Given the description of an element on the screen output the (x, y) to click on. 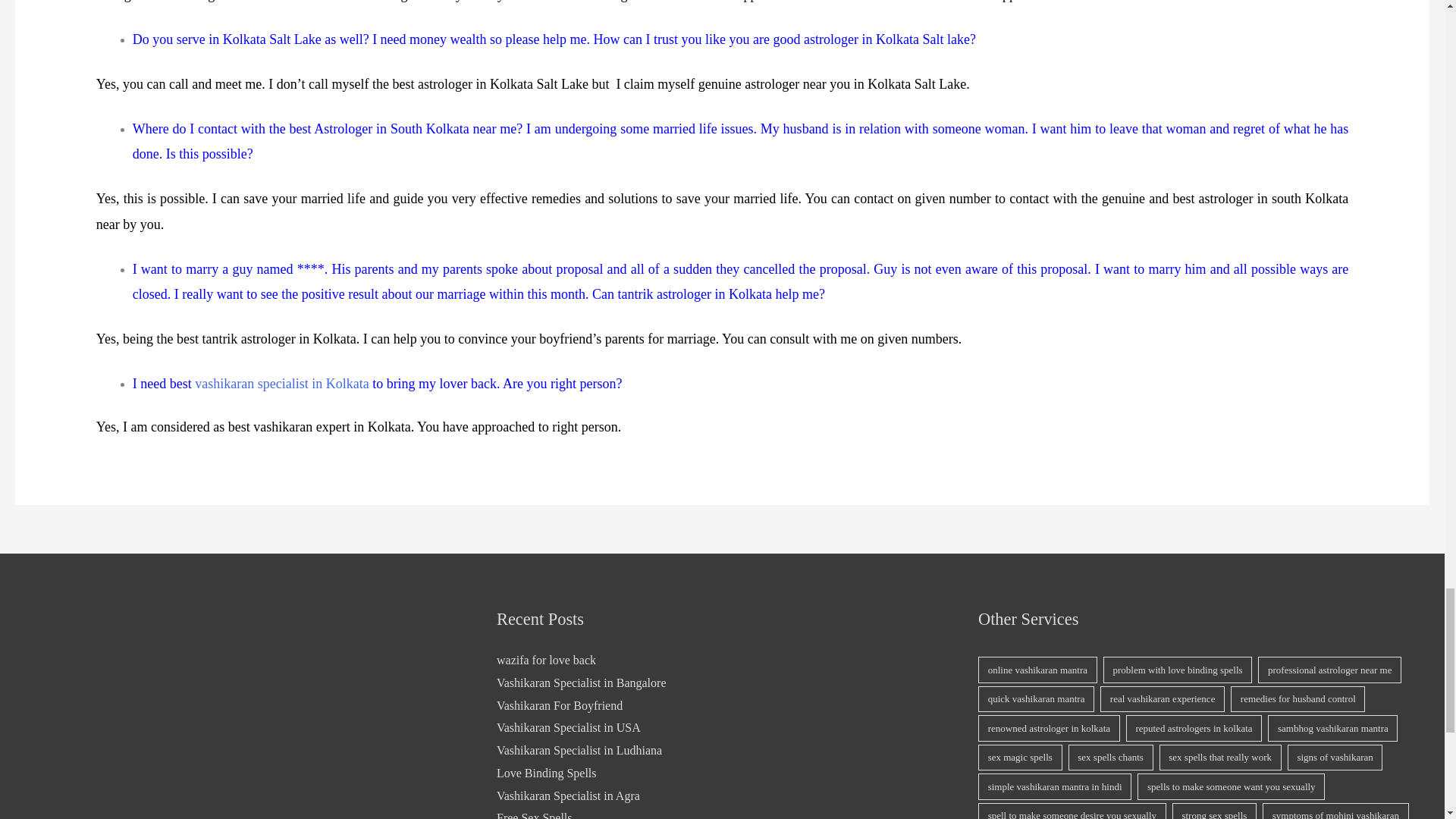
Vashikaran Specialist in Bangalore (581, 682)
Vashikaran Specialist in Ludhiana (579, 749)
Love Binding Spells (546, 772)
Free Sex Spells (534, 815)
Vashikaran Specialist in Agra (568, 794)
Vashikaran For Boyfriend (559, 705)
Vashikaran Specialist in USA (568, 727)
vashikaran specialist in Kolkata (281, 383)
wazifa for love back (545, 659)
